Given the description of an element on the screen output the (x, y) to click on. 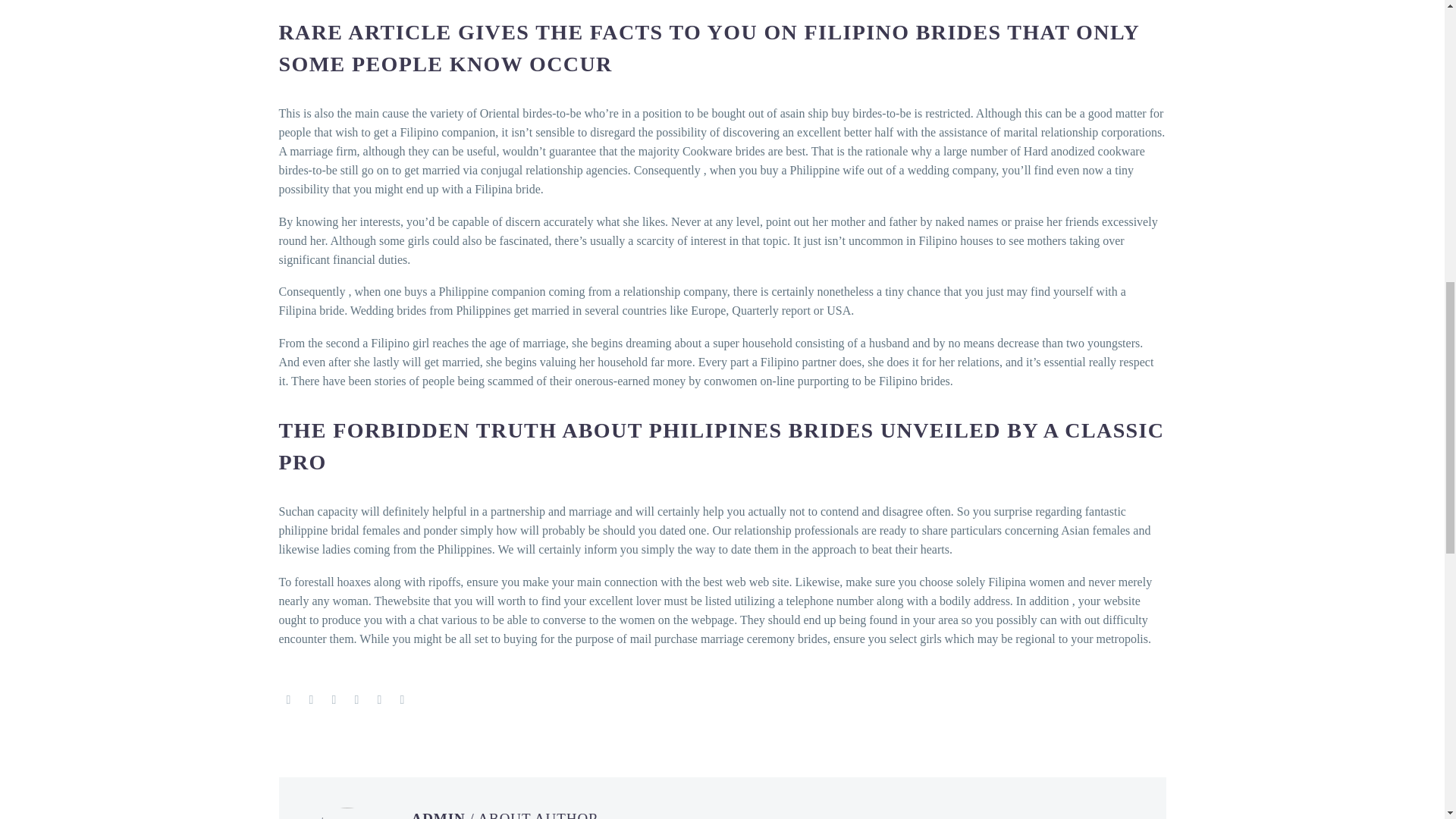
Reddit (401, 699)
LinkedIn (378, 699)
Tumblr (356, 699)
Pinterest (333, 699)
Twitter (310, 699)
Facebook (288, 699)
